Given the description of an element on the screen output the (x, y) to click on. 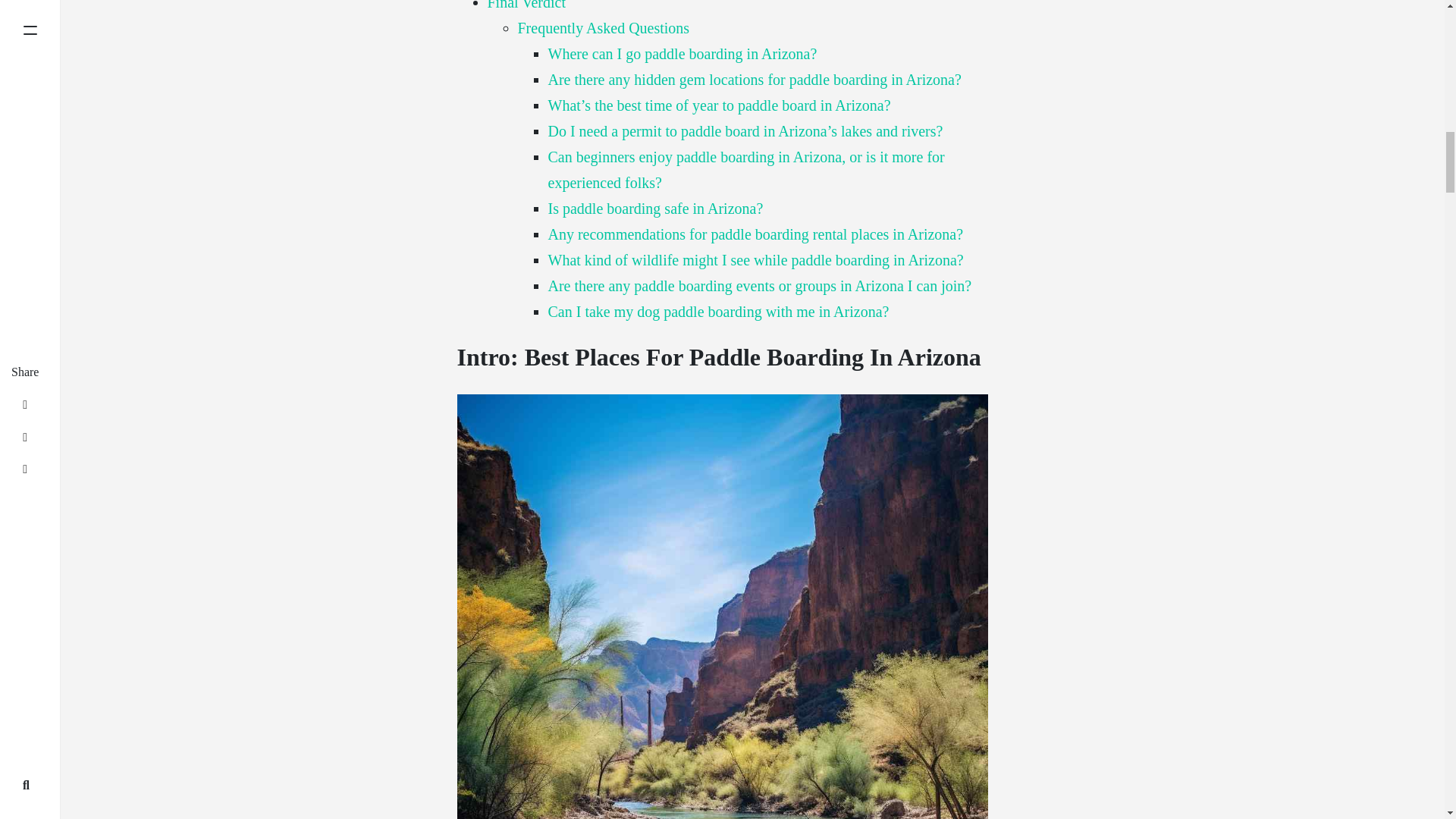
Final Verdict (526, 5)
Frequently Asked Questions (602, 27)
Is paddle boarding safe in Arizona? (654, 208)
Where can I go paddle boarding in Arizona? (681, 53)
Can I take my dog paddle boarding with me in Arizona? (717, 311)
